Given the description of an element on the screen output the (x, y) to click on. 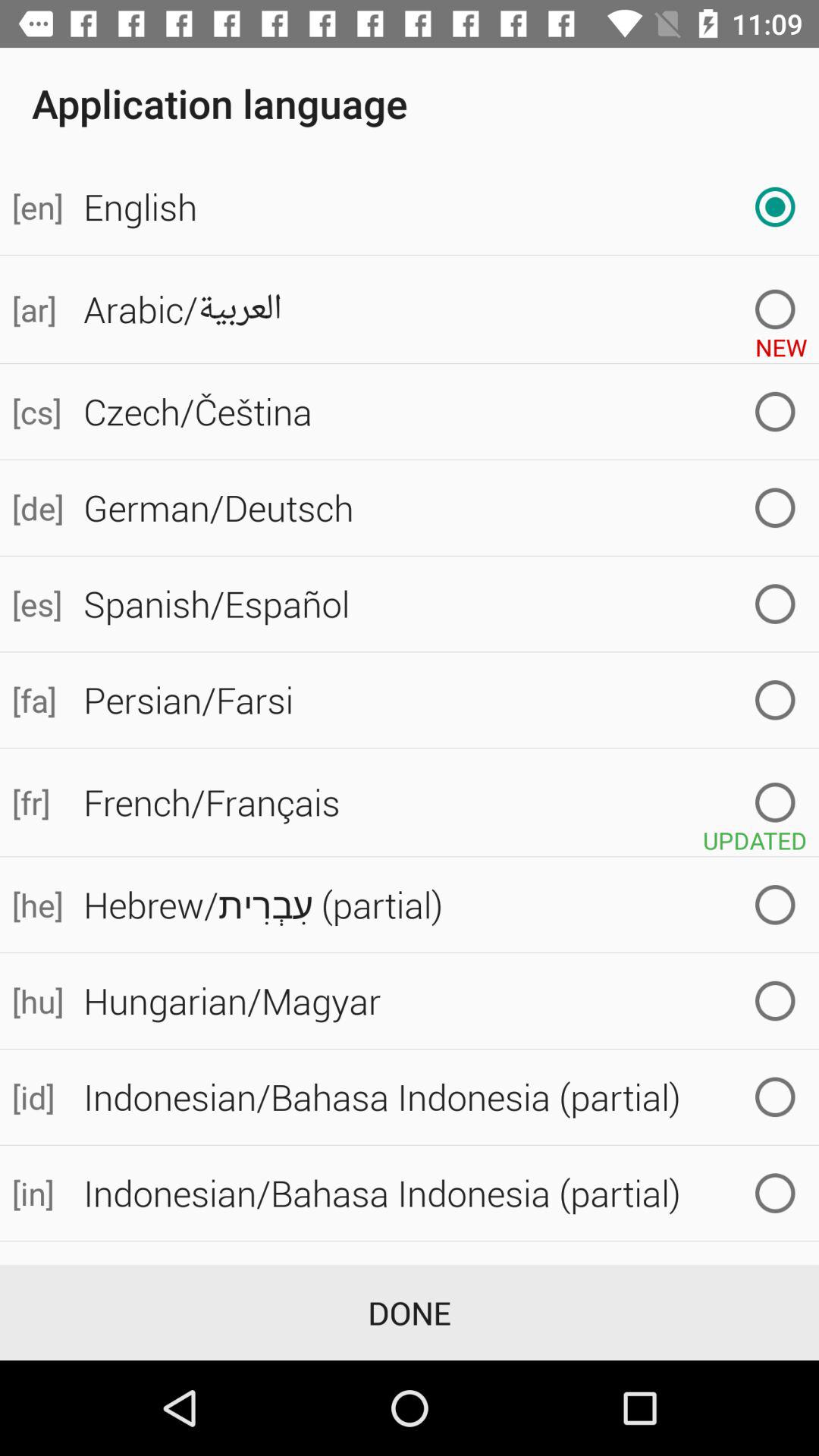
flip until done icon (409, 1312)
